Given the description of an element on the screen output the (x, y) to click on. 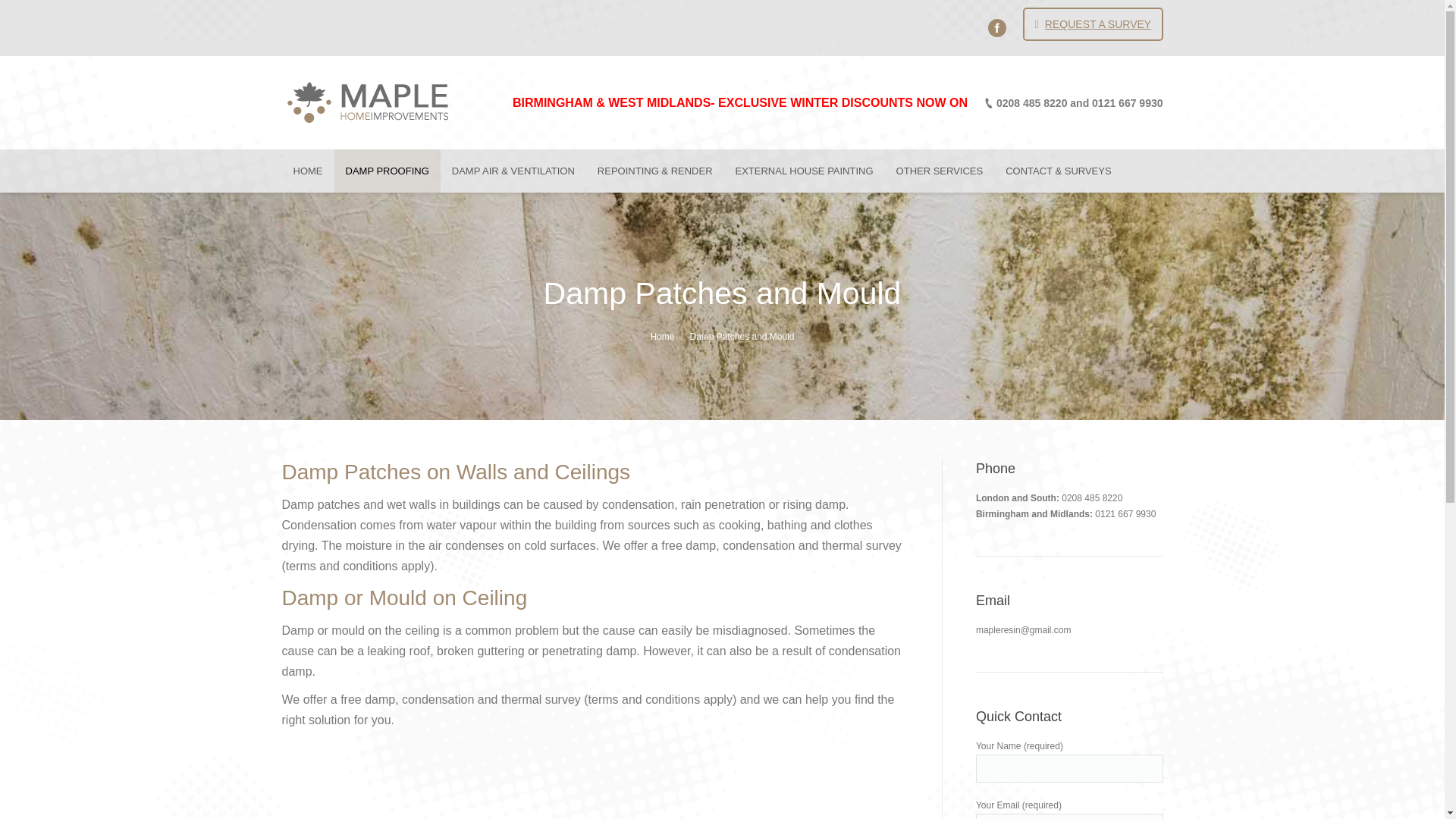
DAMP PROOFING (386, 170)
OTHER SERVICES (939, 170)
REQUEST A SURVEY (1092, 23)
EXTERNAL HOUSE PAINTING (804, 170)
HOME (308, 170)
Facebook (997, 27)
